Given the description of an element on the screen output the (x, y) to click on. 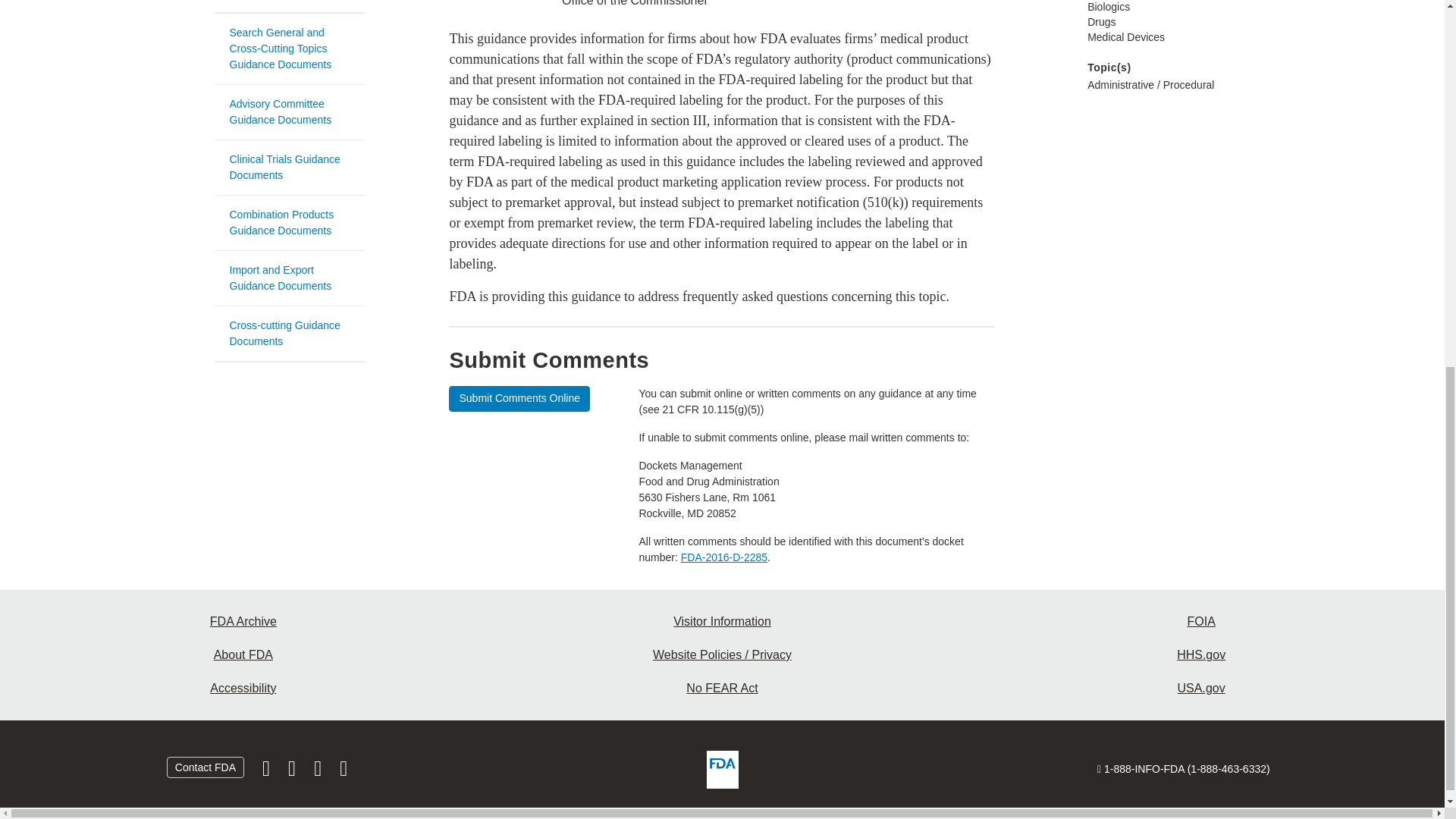
Search for FDA Guidance Documents (289, 6)
Freedom of Information Act (1200, 621)
View FDA videos on YouTube (318, 771)
Follow FDA on Twitter (293, 771)
Health and Human Services (1200, 654)
Subscribe to FDA RSS feeds (343, 771)
Follow FDA on Facebook (267, 771)
